Given the description of an element on the screen output the (x, y) to click on. 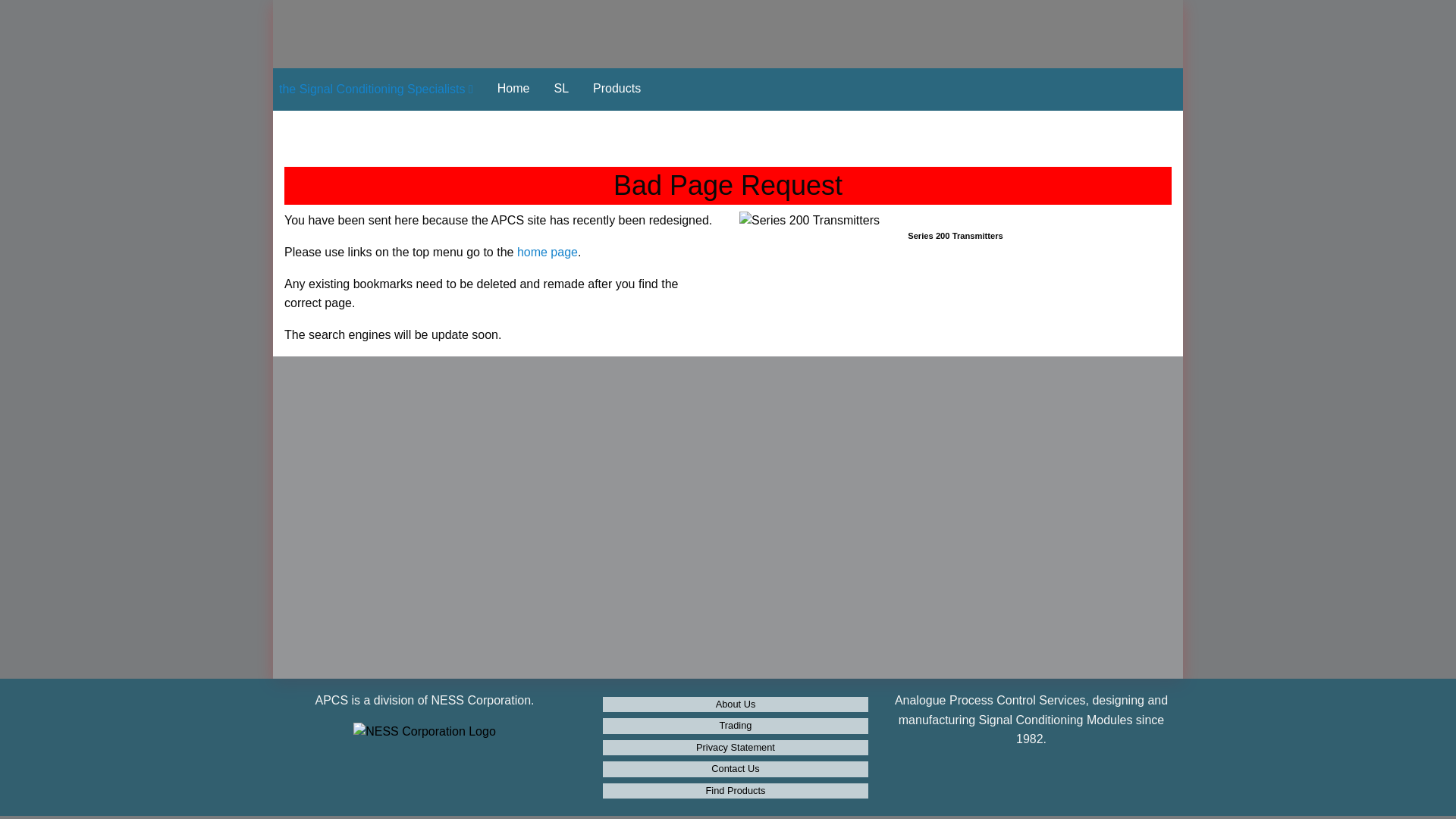
Contact Us Element type: text (735, 768)
Home Element type: text (513, 88)
Privacy Statement Element type: text (735, 747)
SL Element type: text (560, 88)
the Signal Conditioning Specialists Element type: text (376, 88)
Products Element type: text (616, 88)
Trading Element type: text (735, 725)
home page Element type: text (547, 251)
Find Products Element type: text (735, 790)
About Us Element type: text (735, 704)
